Given the description of an element on the screen output the (x, y) to click on. 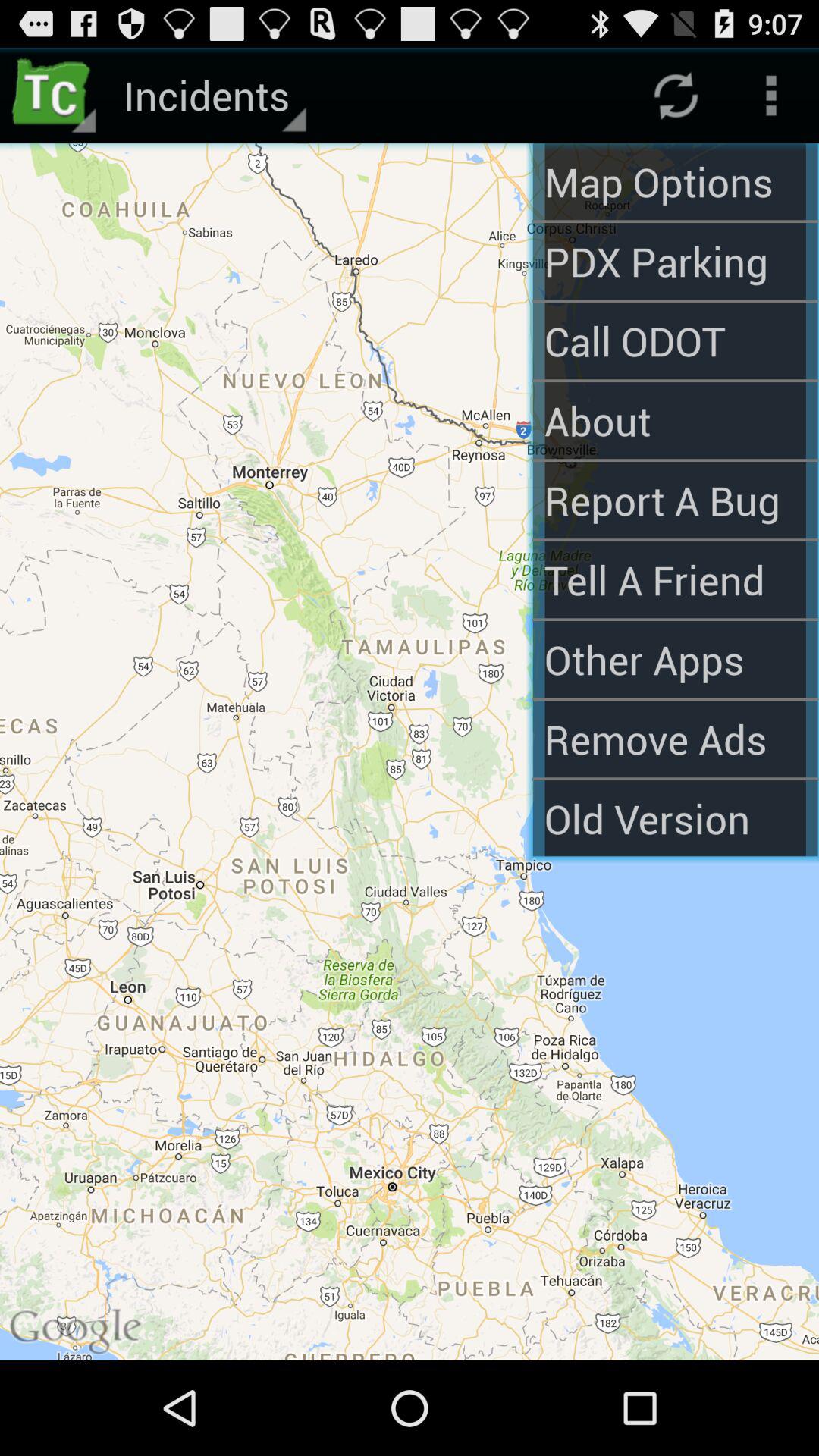
turn on other apps item (675, 659)
